Given the description of an element on the screen output the (x, y) to click on. 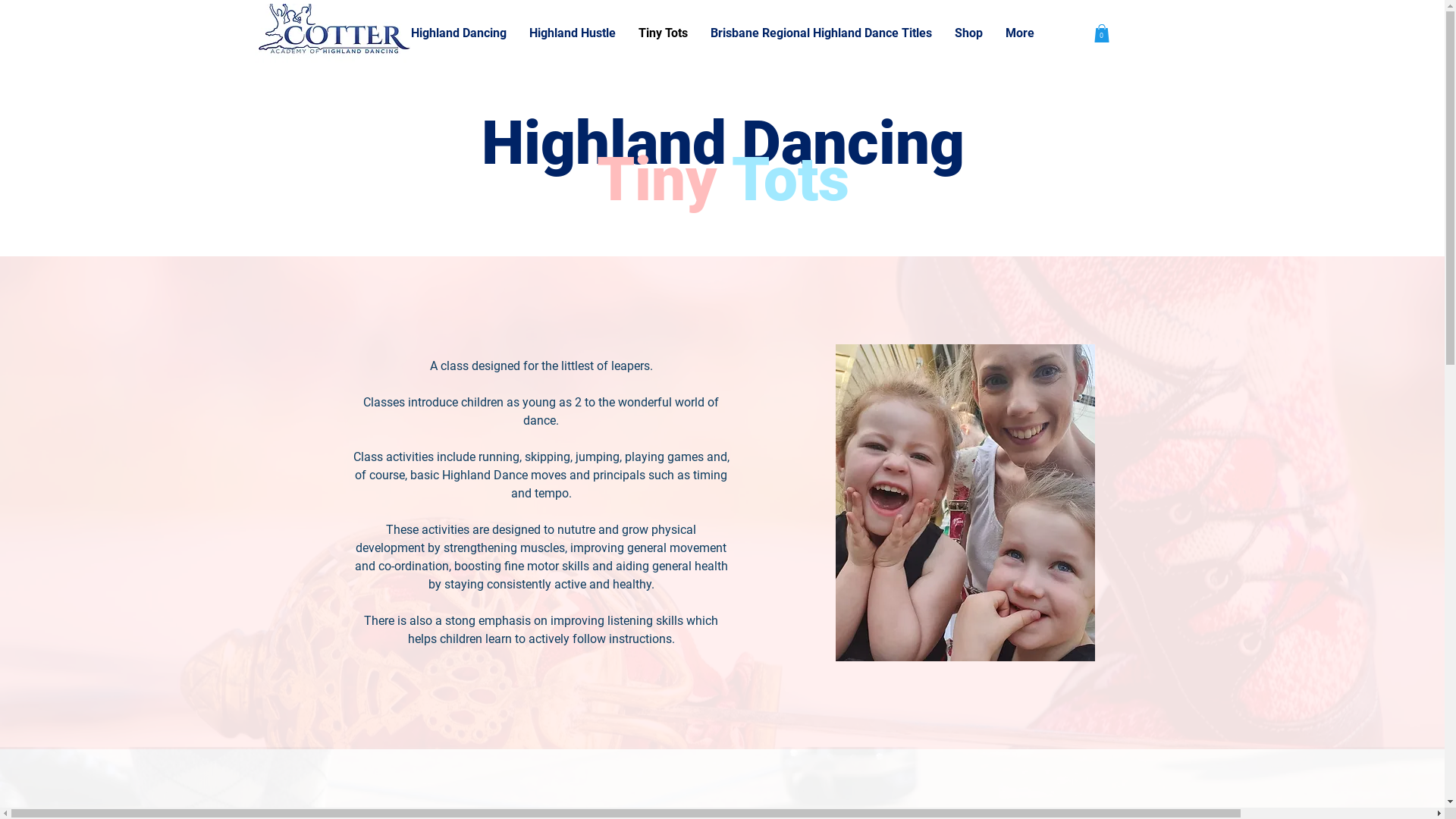
Tiny Tots Element type: text (662, 33)
Highland Hustle Element type: text (571, 33)
0 Element type: text (1100, 33)
Shop Element type: text (968, 33)
Brisbane Regional Highland Dance Titles Element type: text (821, 33)
Highland Dancing Element type: text (457, 33)
